Given the description of an element on the screen output the (x, y) to click on. 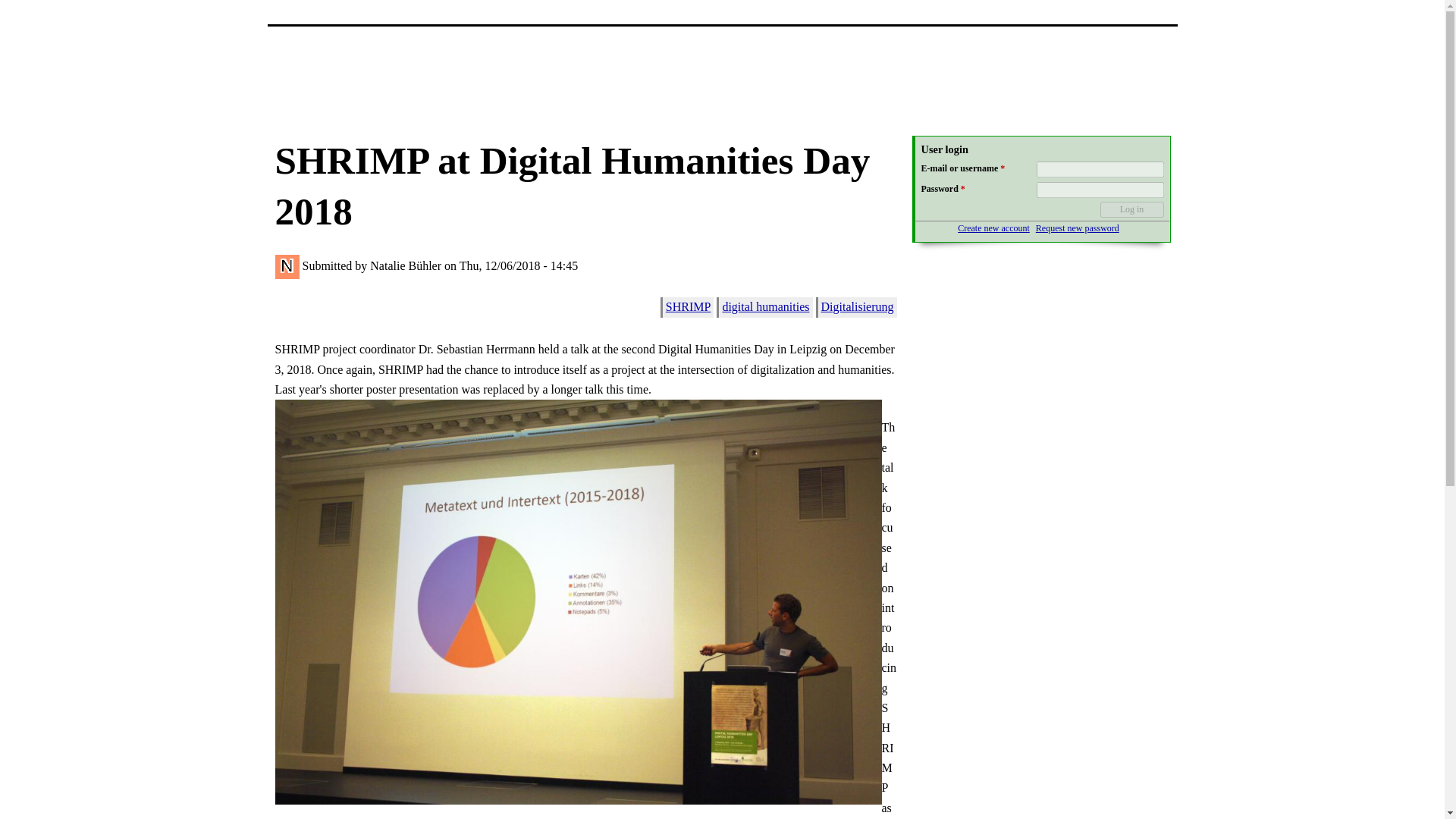
Create new account (993, 227)
digital humanities (765, 306)
Request new password via e-mail. (1077, 227)
Digitalisierung (857, 306)
Log in (1131, 209)
Log in (1131, 209)
Create a new user account. (993, 227)
SHRIMP (688, 306)
Request new password (1077, 227)
